Given the description of an element on the screen output the (x, y) to click on. 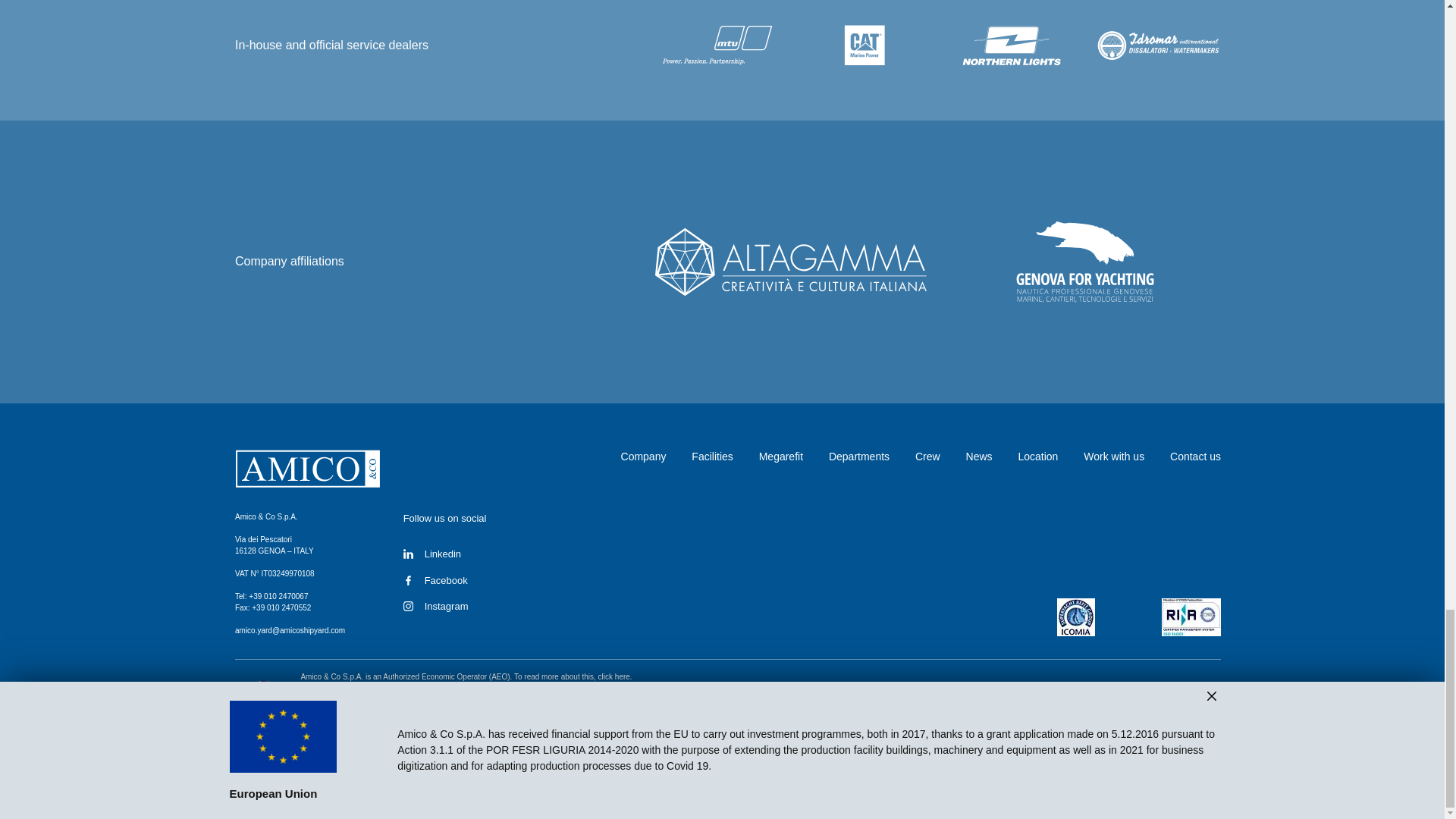
Location (1037, 456)
Crew (927, 456)
Megarefit (780, 456)
News (979, 456)
Departments (858, 456)
Company (643, 456)
Work with us (1113, 456)
Contact us (1195, 456)
Facilities (711, 456)
